Given the description of an element on the screen output the (x, y) to click on. 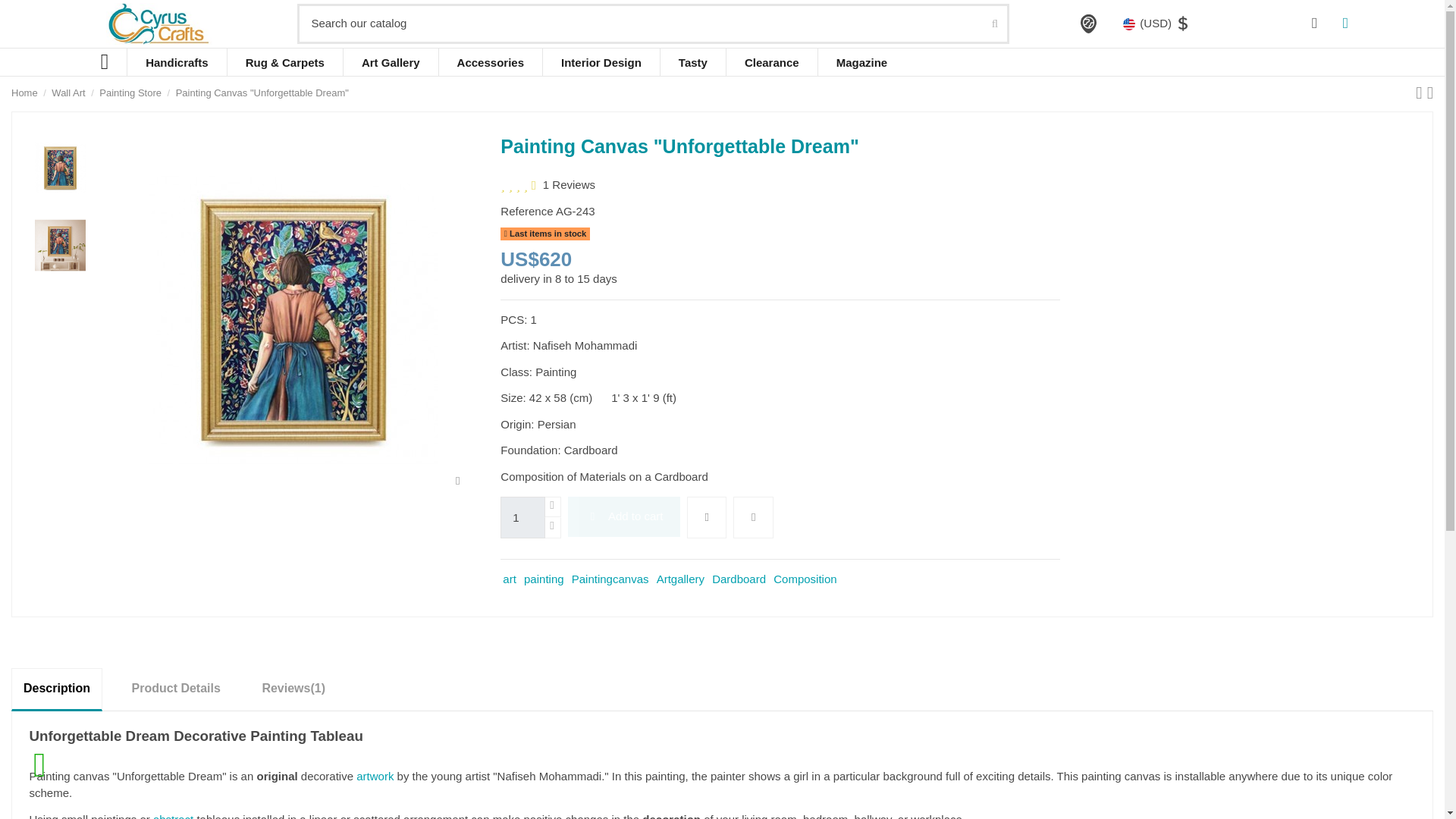
Handicrafts (176, 62)
1 (522, 517)
Log in to your customer account (1314, 24)
